Given the description of an element on the screen output the (x, y) to click on. 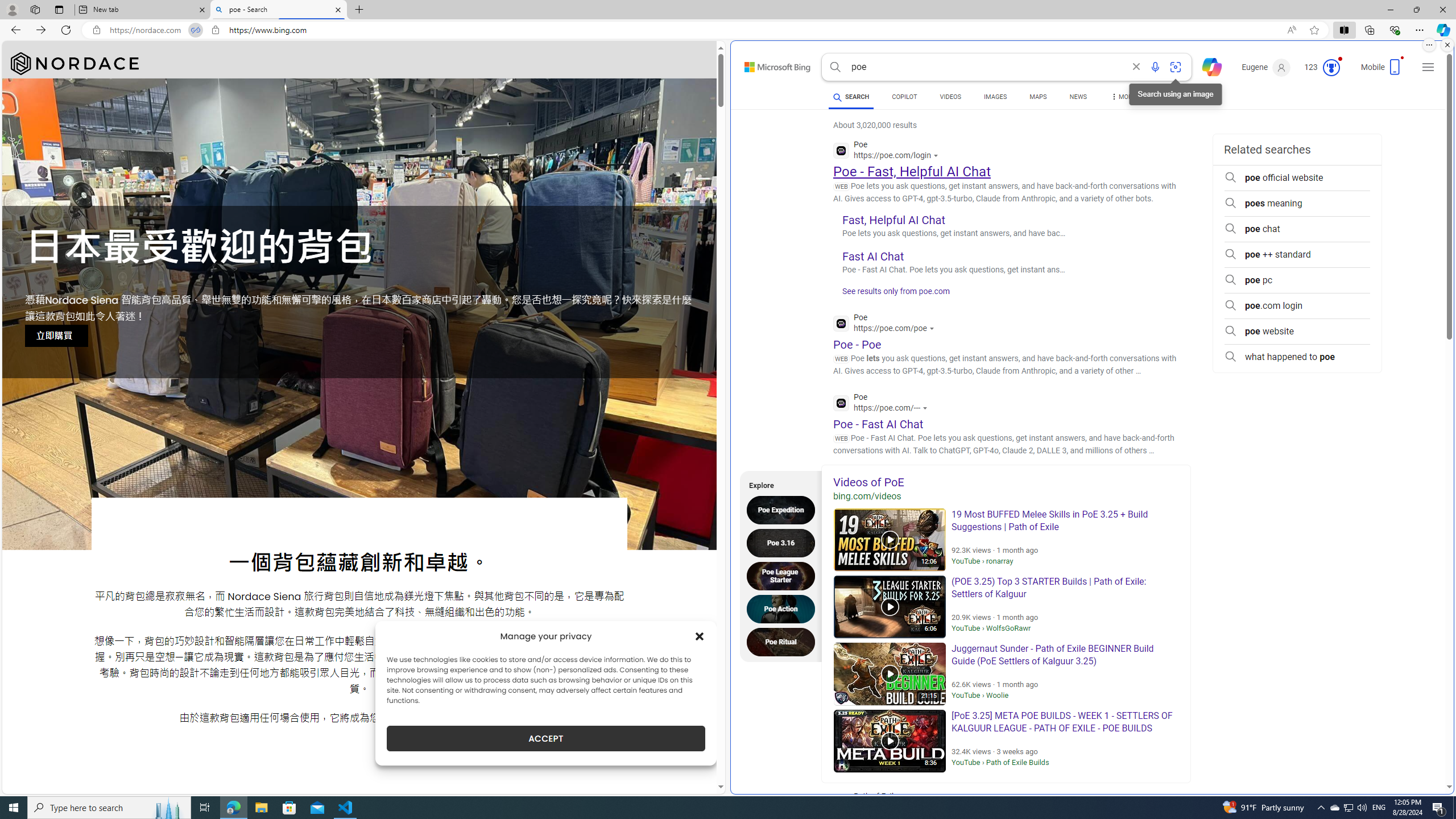
NEWS (1078, 96)
Search using voice (1154, 66)
Poe - Poe (856, 344)
Poe 3.16 (783, 542)
Explore (777, 483)
Fast AI Chat (873, 255)
Close split screen. (1447, 45)
VIDEOS (950, 98)
NEWS (1078, 98)
